Given the description of an element on the screen output the (x, y) to click on. 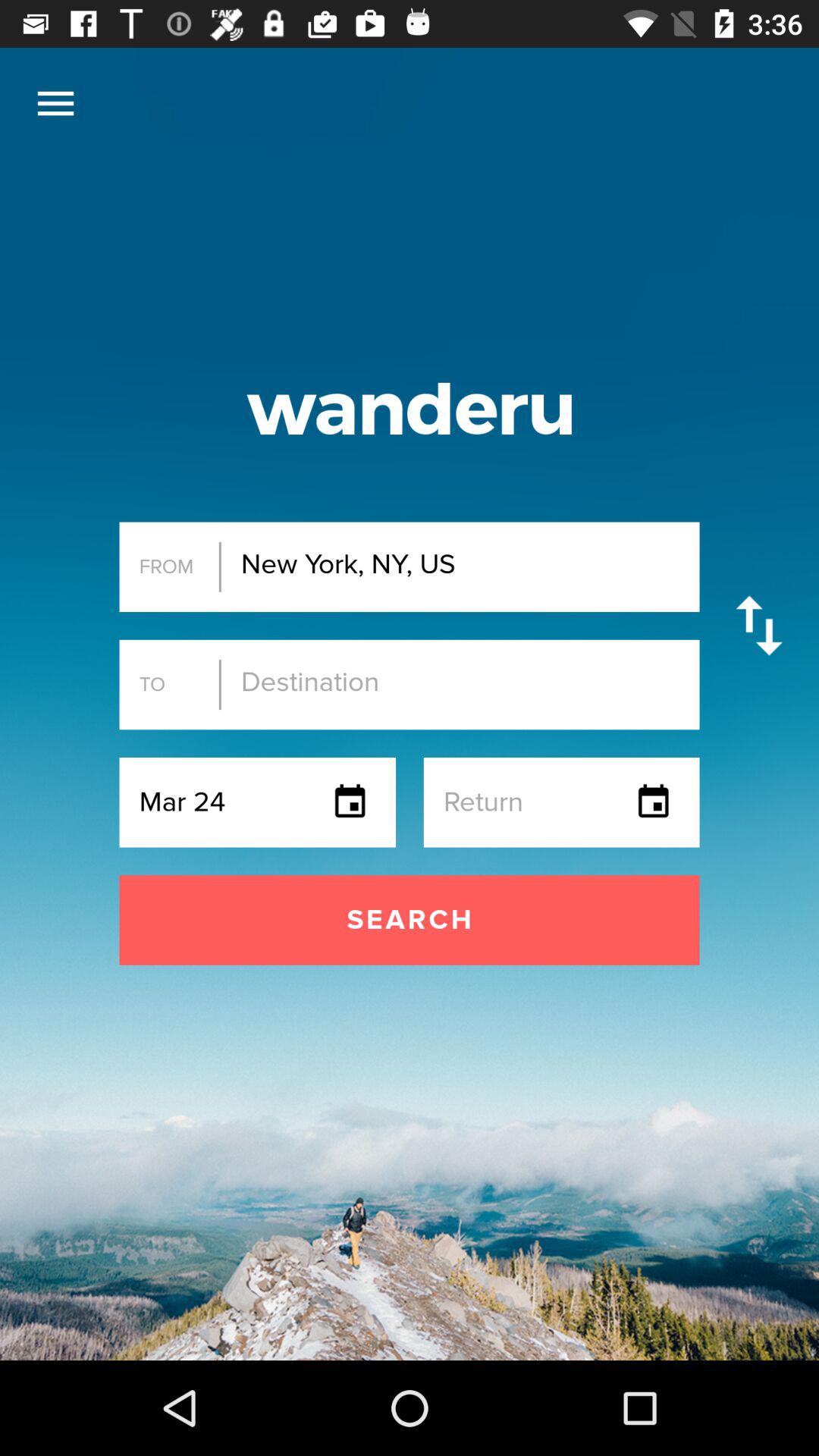
launch the icon at the top left corner (55, 103)
